Given the description of an element on the screen output the (x, y) to click on. 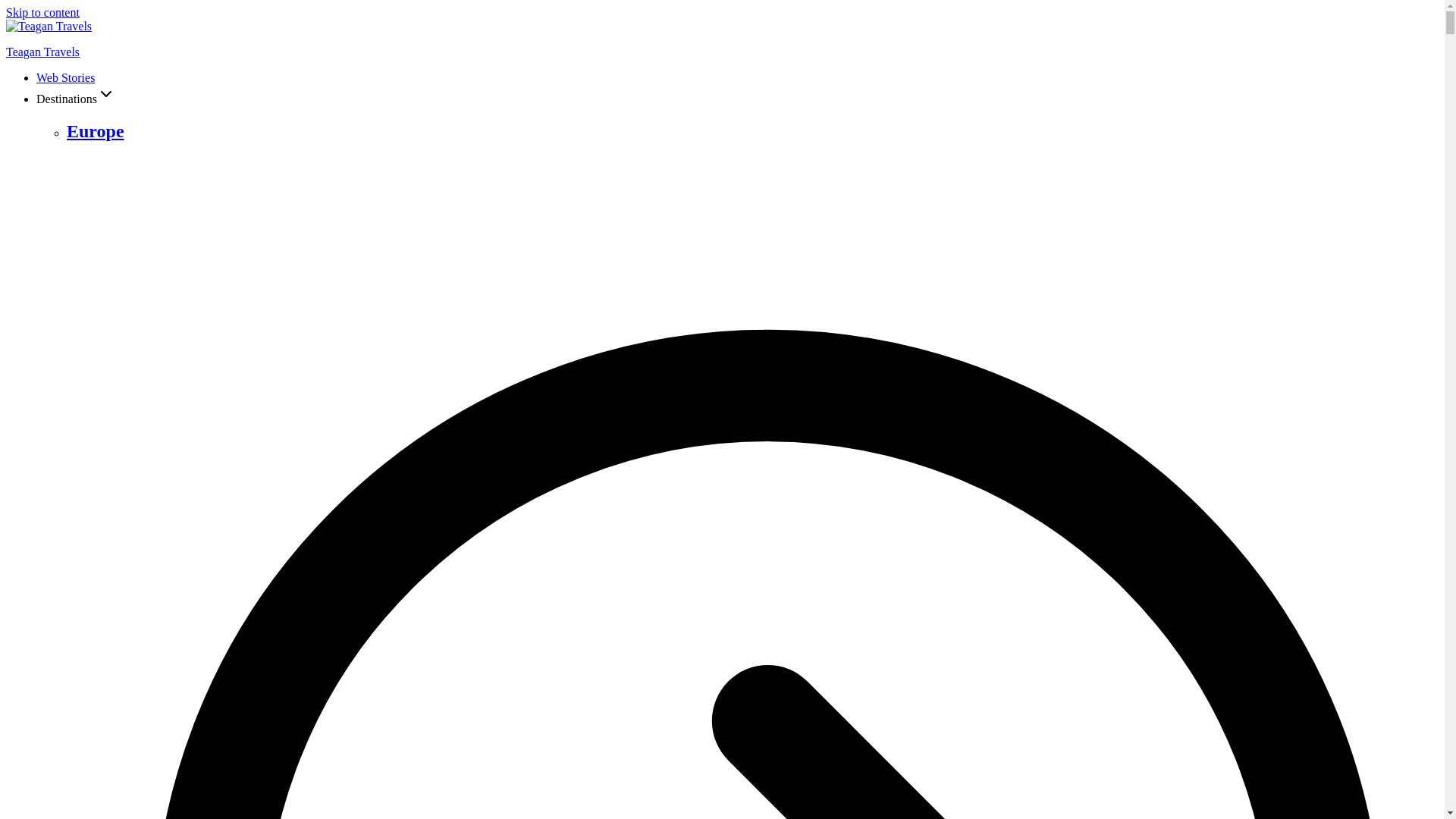
Skip to content (42, 11)
DestinationsExpand (75, 98)
Expand (106, 94)
Web Stories (65, 77)
Europe (94, 130)
Skip to content (42, 11)
